Given the description of an element on the screen output the (x, y) to click on. 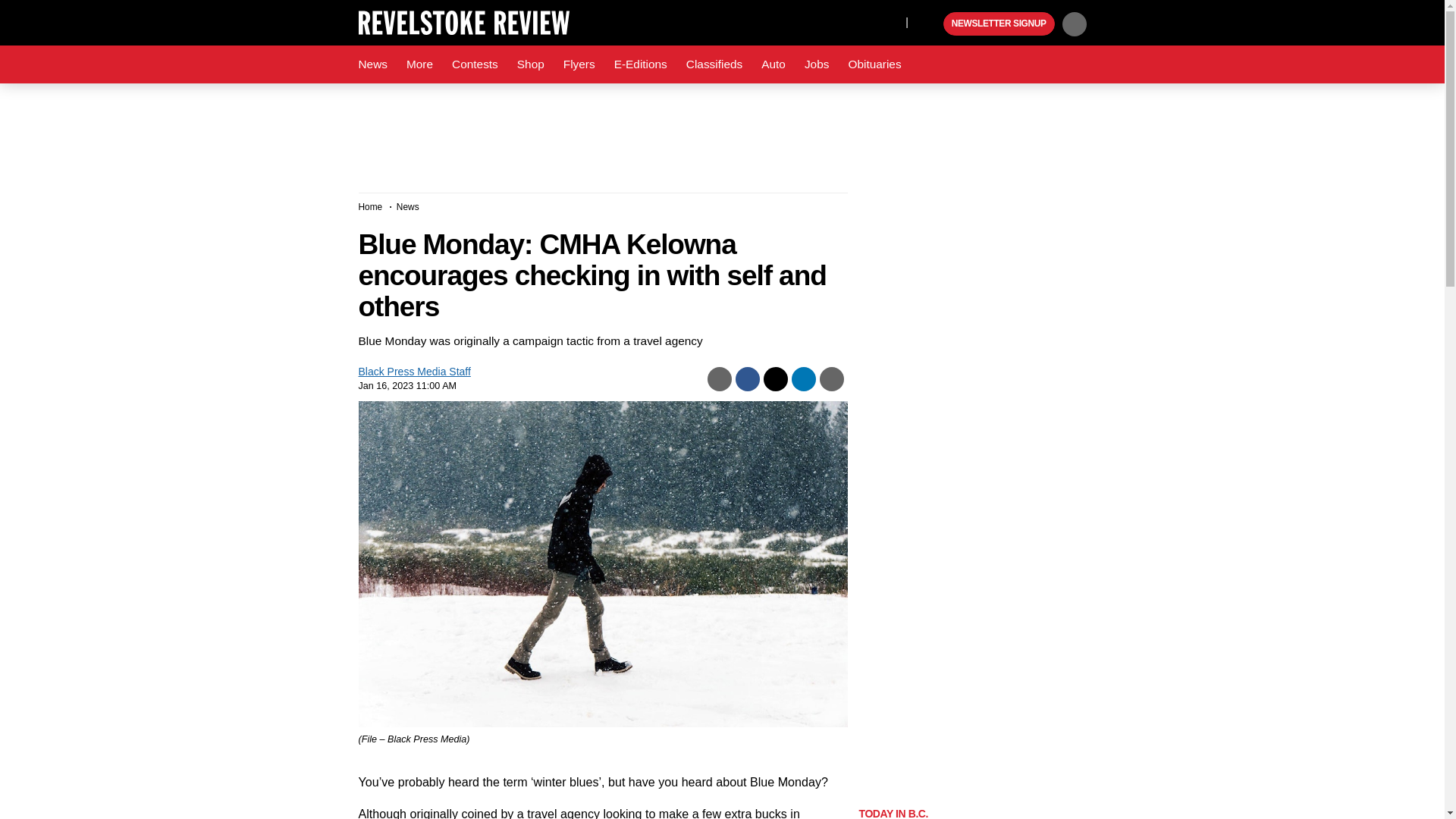
X (889, 21)
News (372, 64)
Play (929, 24)
NEWSLETTER SIGNUP (998, 24)
Black Press Media (929, 24)
